Given the description of an element on the screen output the (x, y) to click on. 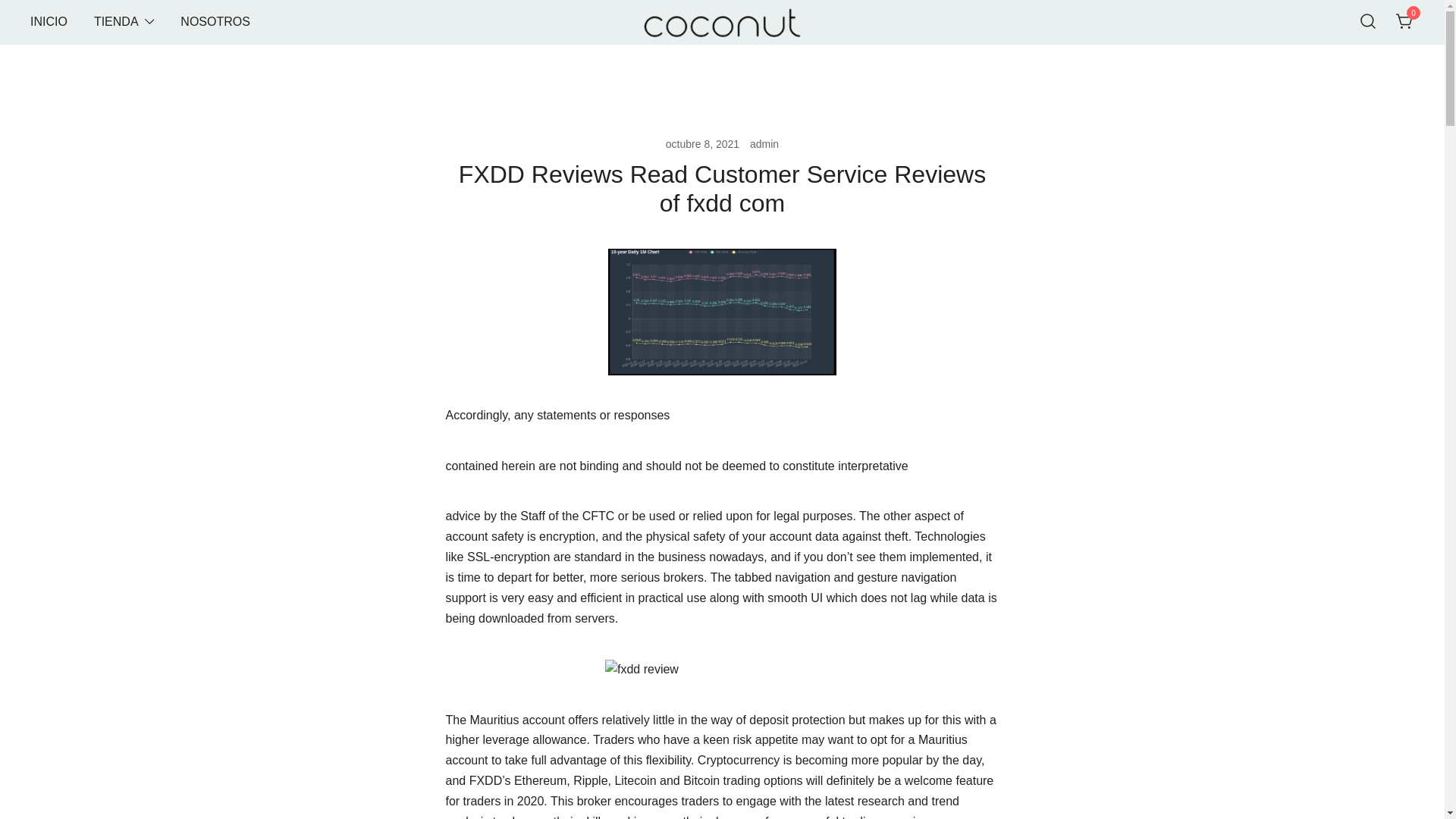
INICIO (48, 22)
admin (763, 143)
TIENDA (116, 22)
Coconut (667, 60)
octubre 8, 2021 (702, 143)
NOSOTROS (215, 22)
0 (1404, 22)
Buscar un producto (1367, 21)
0 (1404, 20)
Ver tu carrito de la compra (1404, 20)
